Given the description of an element on the screen output the (x, y) to click on. 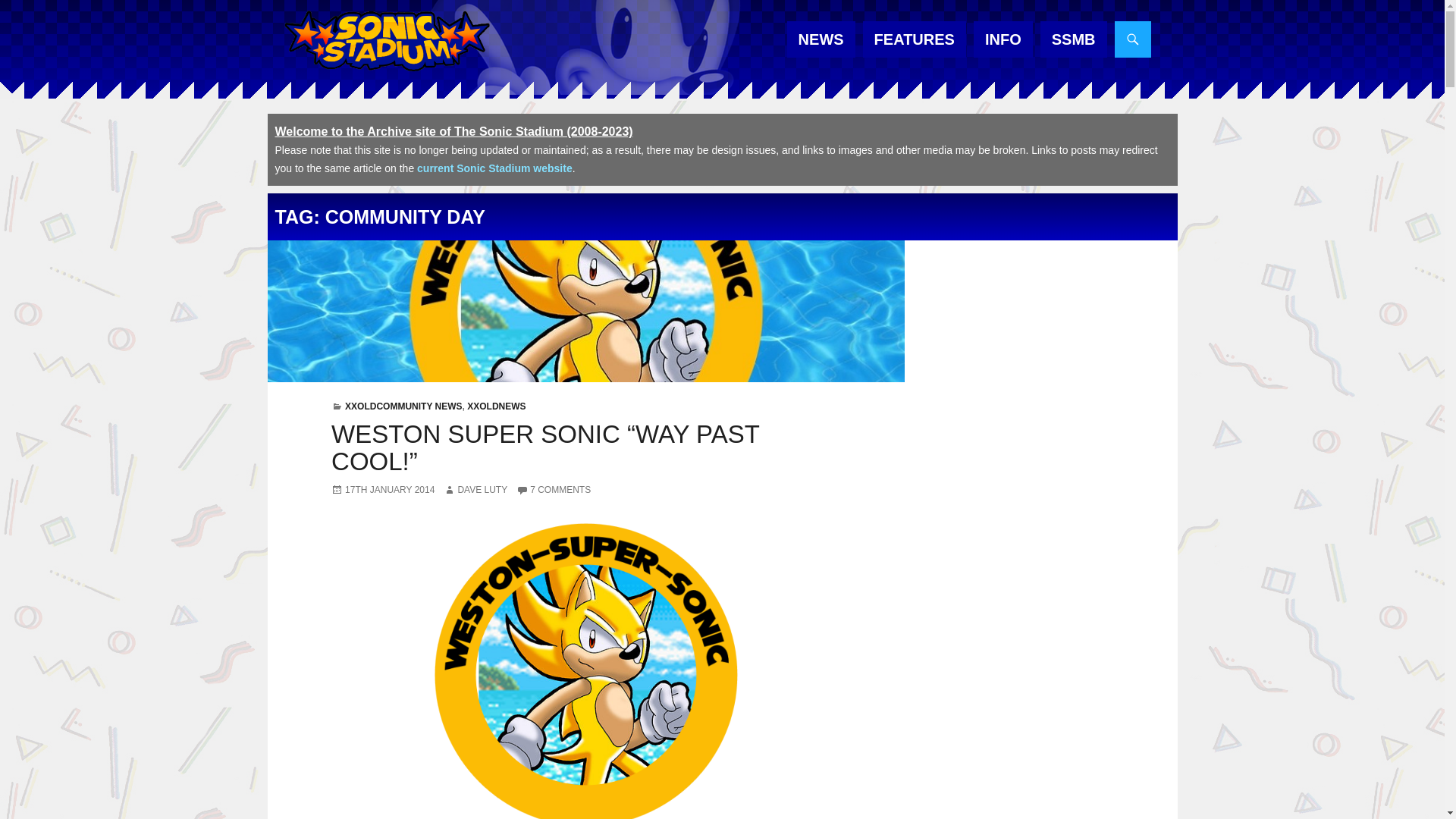
INFO (1003, 39)
SSMB (1073, 39)
FEATURES (914, 39)
Go back to the HOME Page... (385, 40)
NEWS (821, 39)
